Given the description of an element on the screen output the (x, y) to click on. 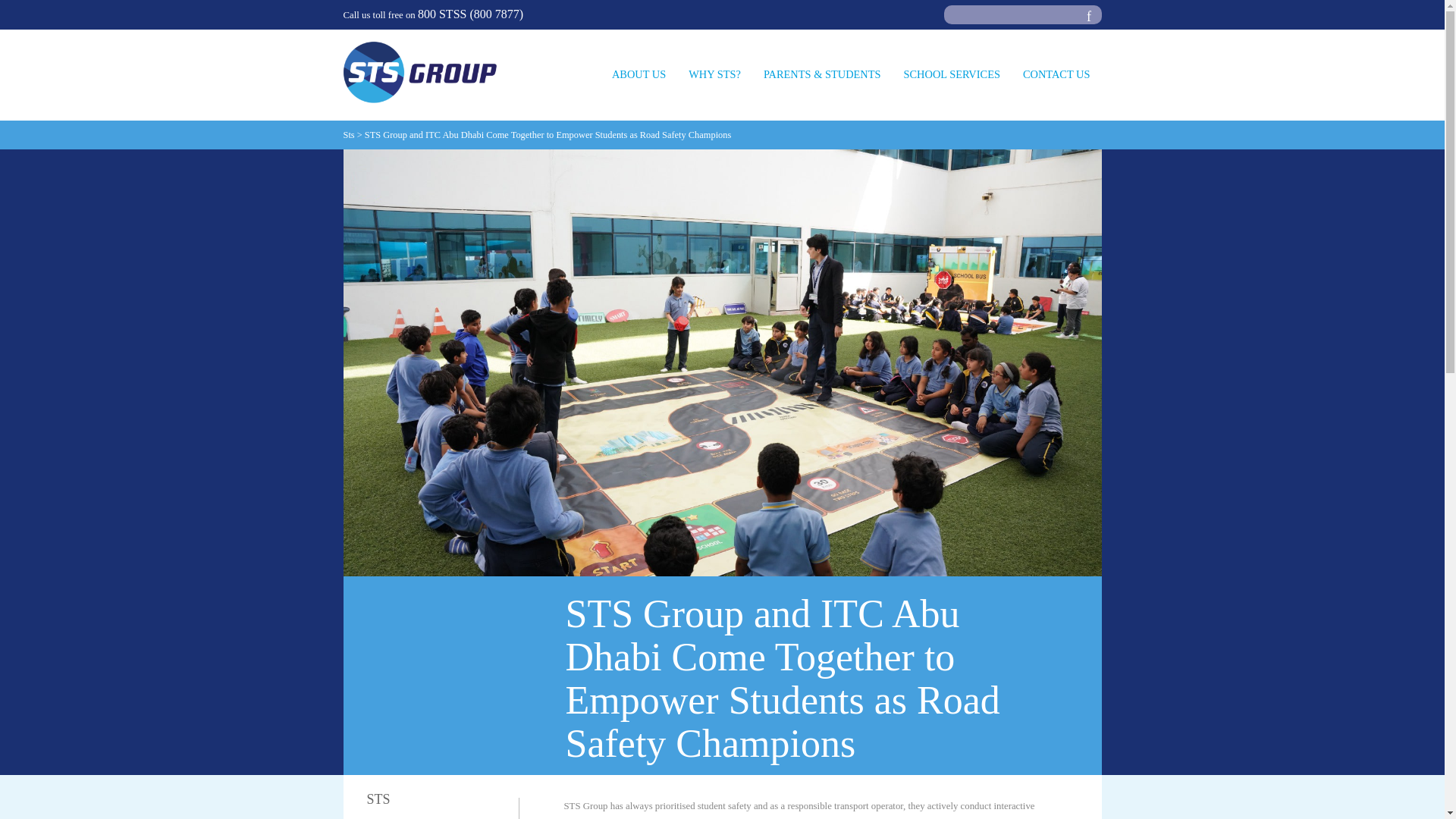
CONTACT US (1056, 88)
SCHOOL SERVICES (950, 88)
WHY STS? (714, 88)
ABOUT US (638, 88)
